Given the description of an element on the screen output the (x, y) to click on. 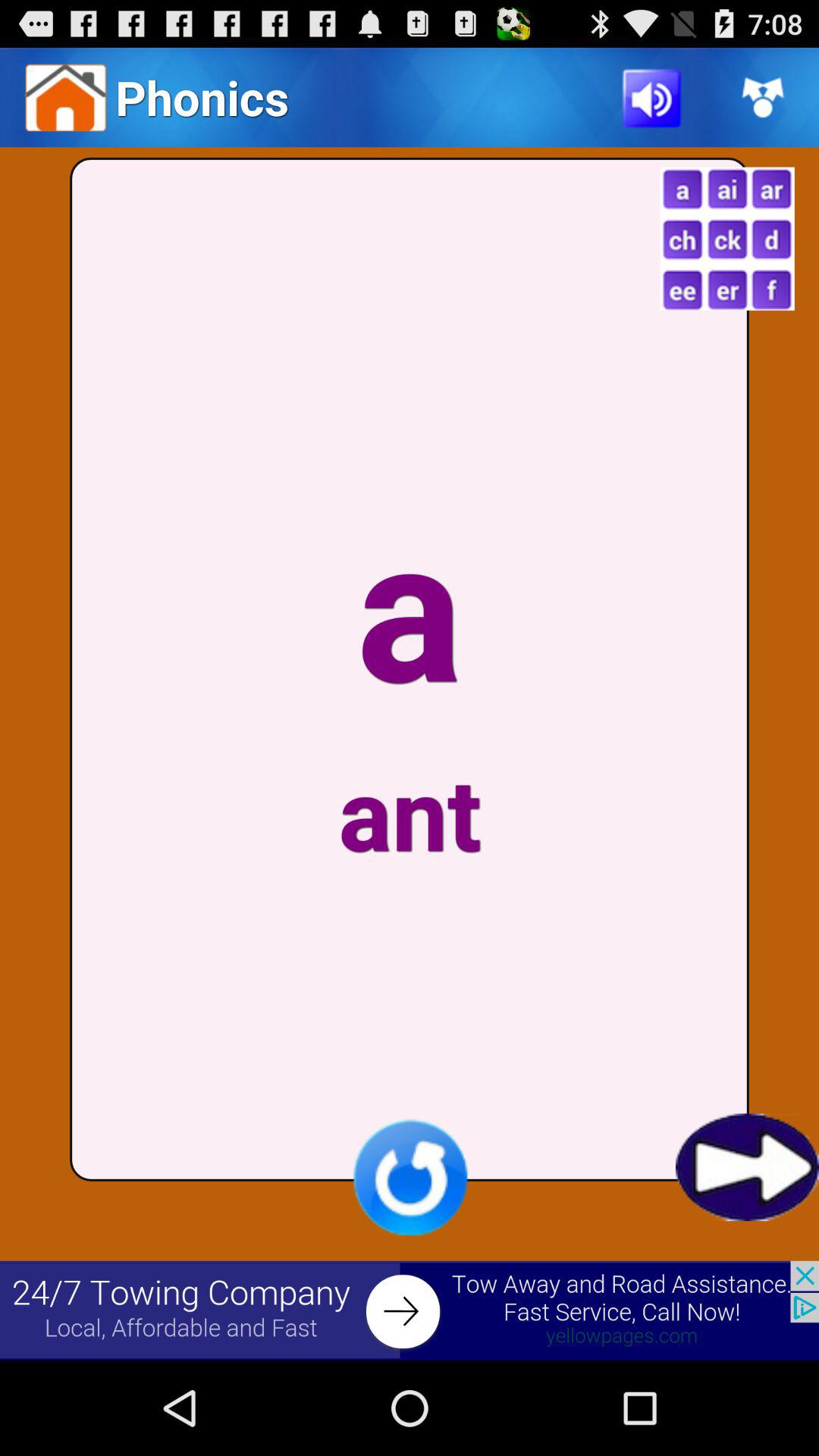
new flashcard (727, 238)
